Given the description of an element on the screen output the (x, y) to click on. 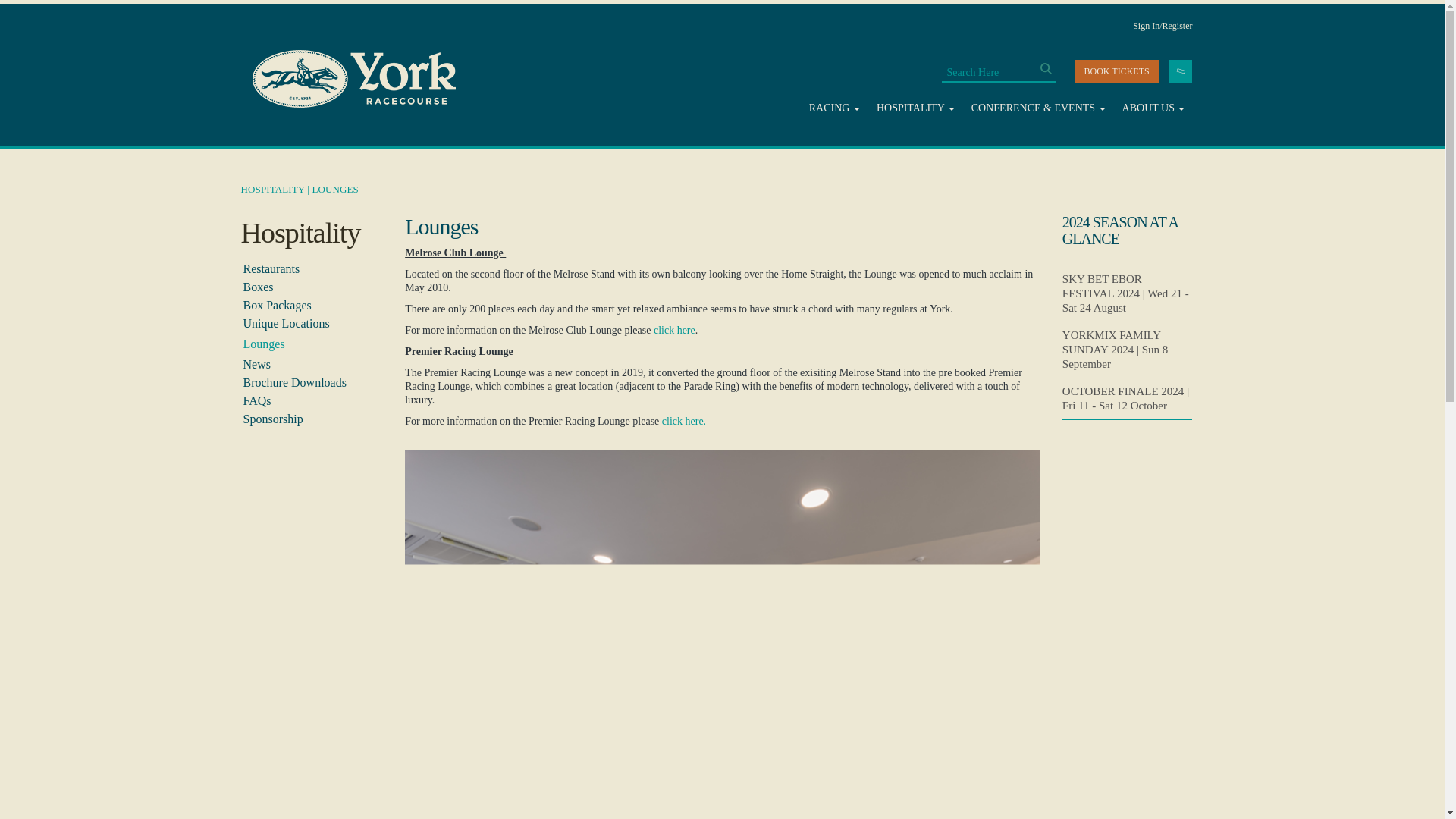
York Racecourse (352, 79)
RACING (834, 107)
Search (1046, 68)
HOSPITALITY (915, 107)
BOOK TICKETS (1116, 70)
